Given the description of an element on the screen output the (x, y) to click on. 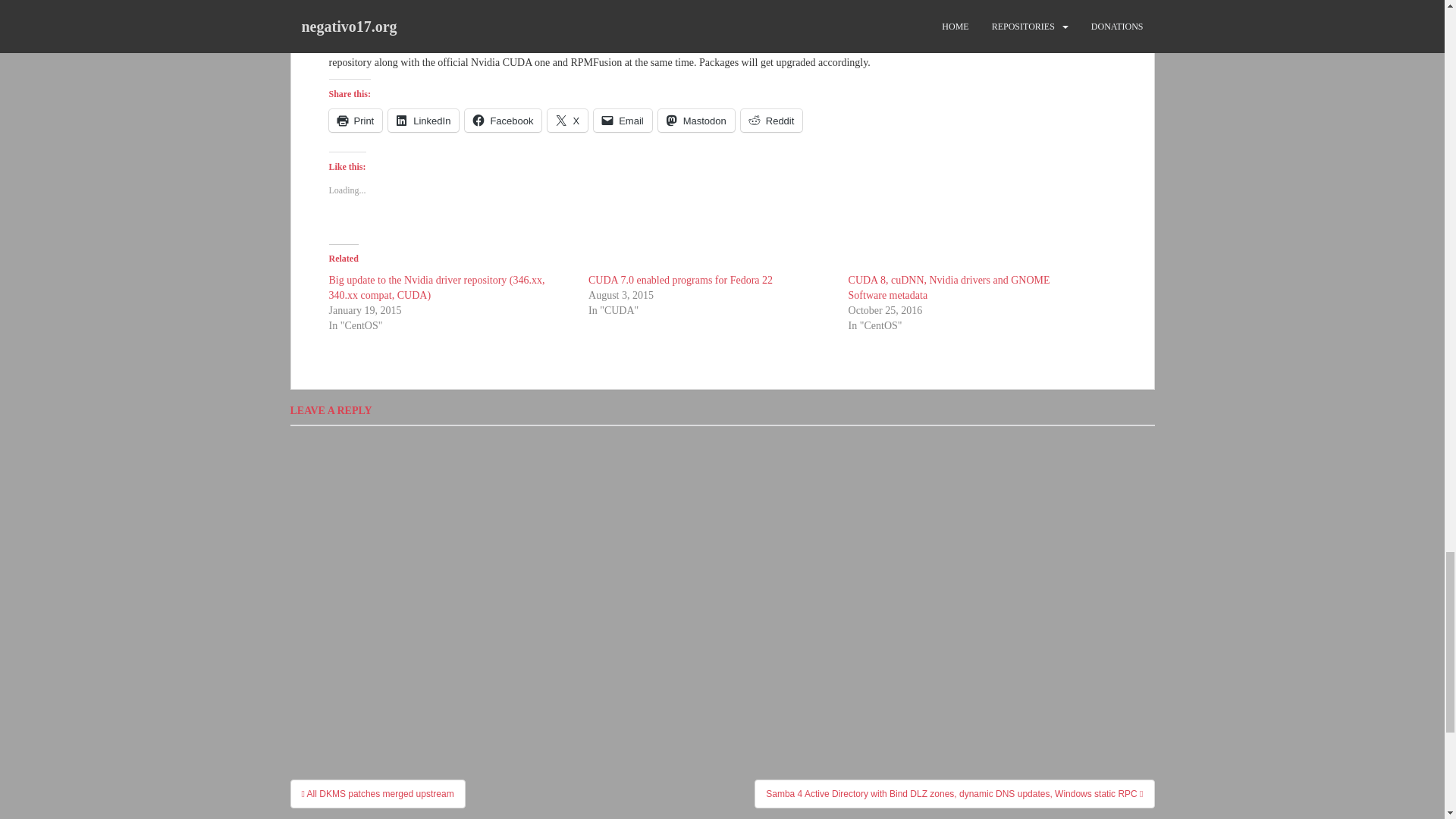
RPMFusion (683, 43)
Click to share on Facebook (502, 119)
Click to email a link to a friend (623, 119)
Print (355, 119)
Click to print (355, 119)
Email (623, 119)
Click to share on LinkedIn (423, 119)
Click to share on Reddit (772, 119)
LinkedIn (423, 119)
Click to share on Mastodon (696, 119)
